Given the description of an element on the screen output the (x, y) to click on. 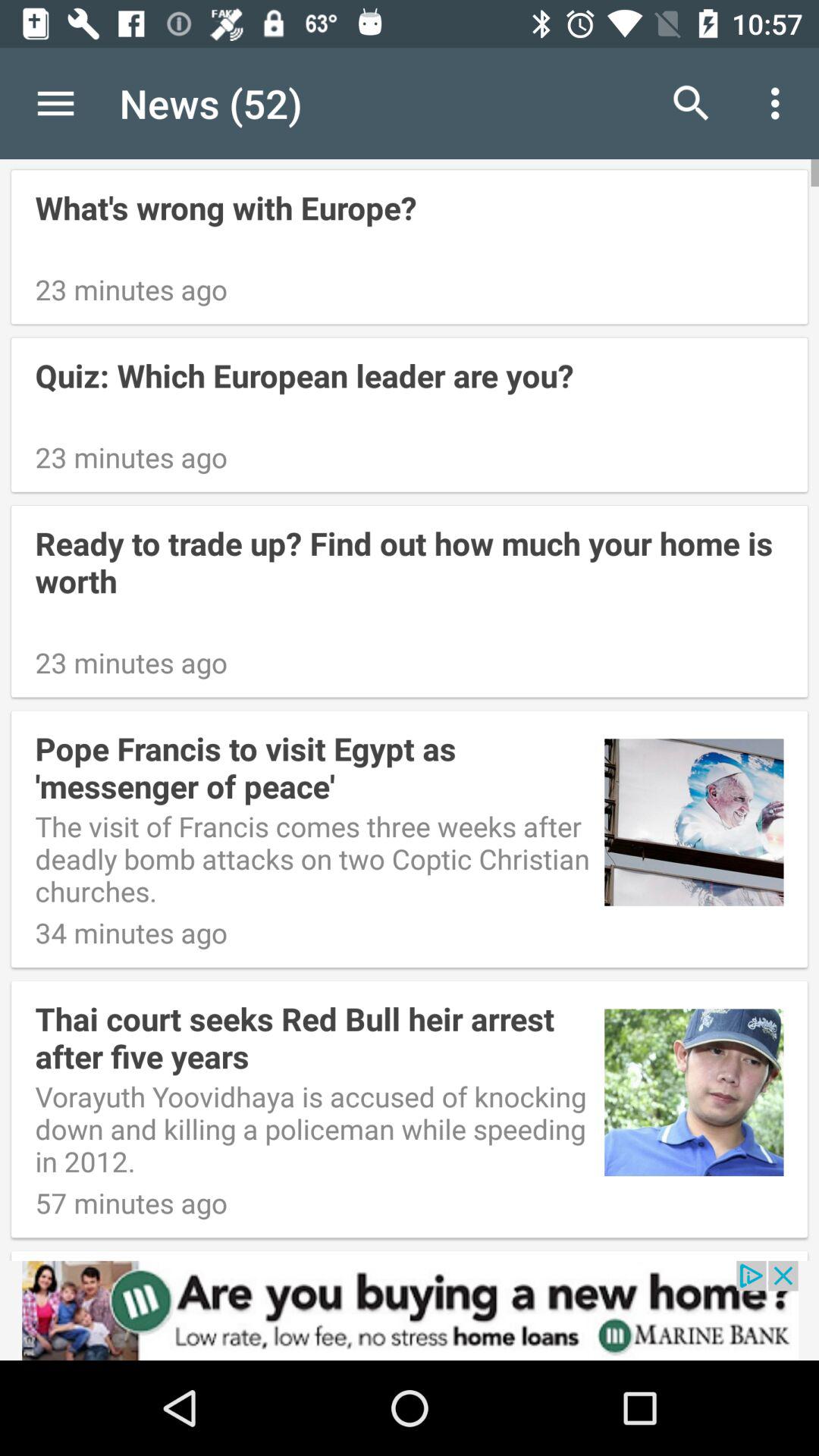
advertisement (409, 1310)
